Given the description of an element on the screen output the (x, y) to click on. 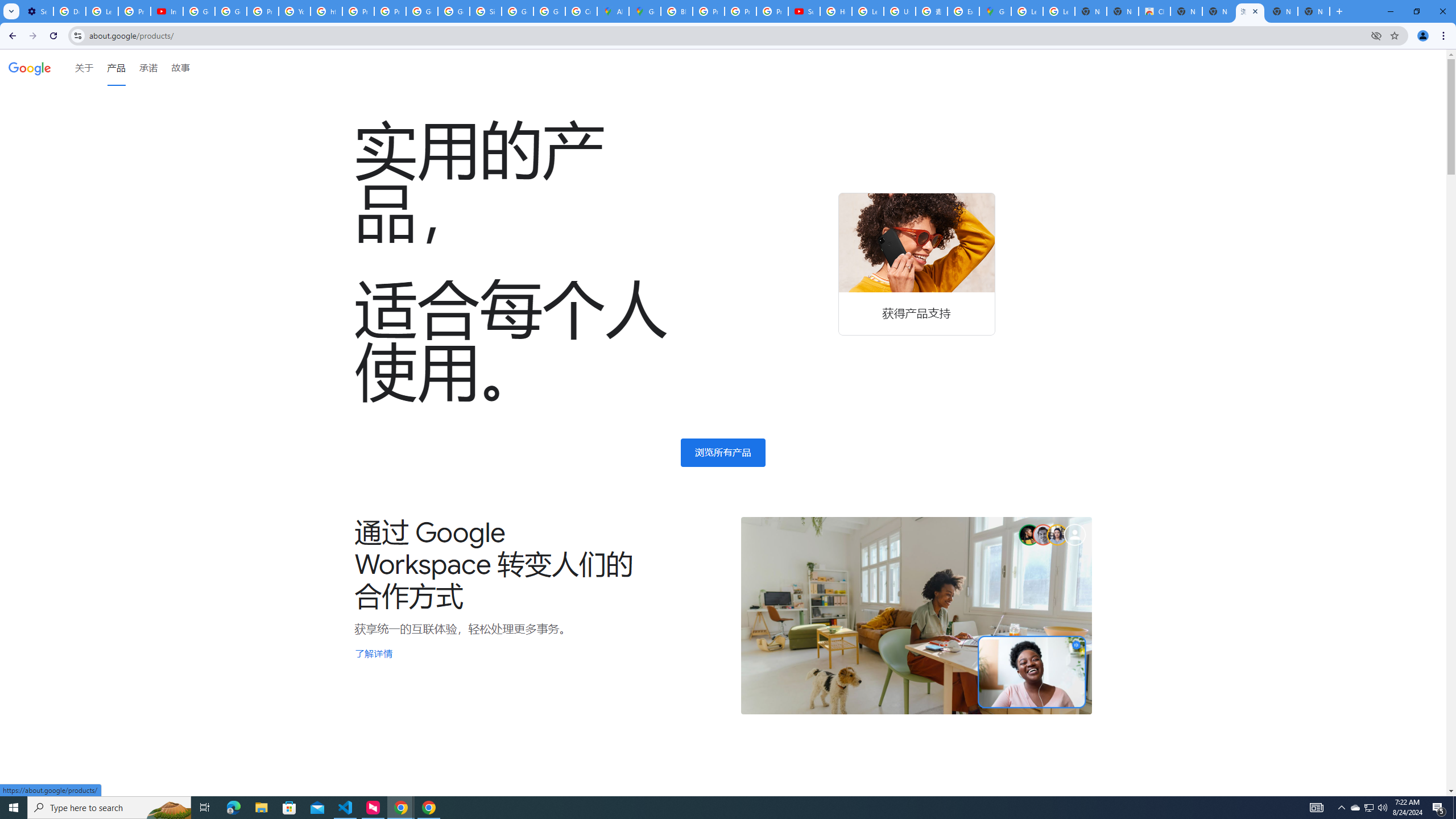
Learn how to find your photos - Google Photos Help (101, 11)
Create your Google Account (581, 11)
Chrome Web Store (1154, 11)
Settings - Customize profile (37, 11)
Explore new street-level details - Google Maps Help (963, 11)
How Chrome protects your passwords - Google Chrome Help (836, 11)
Privacy Help Center - Policies Help (708, 11)
